Given the description of an element on the screen output the (x, y) to click on. 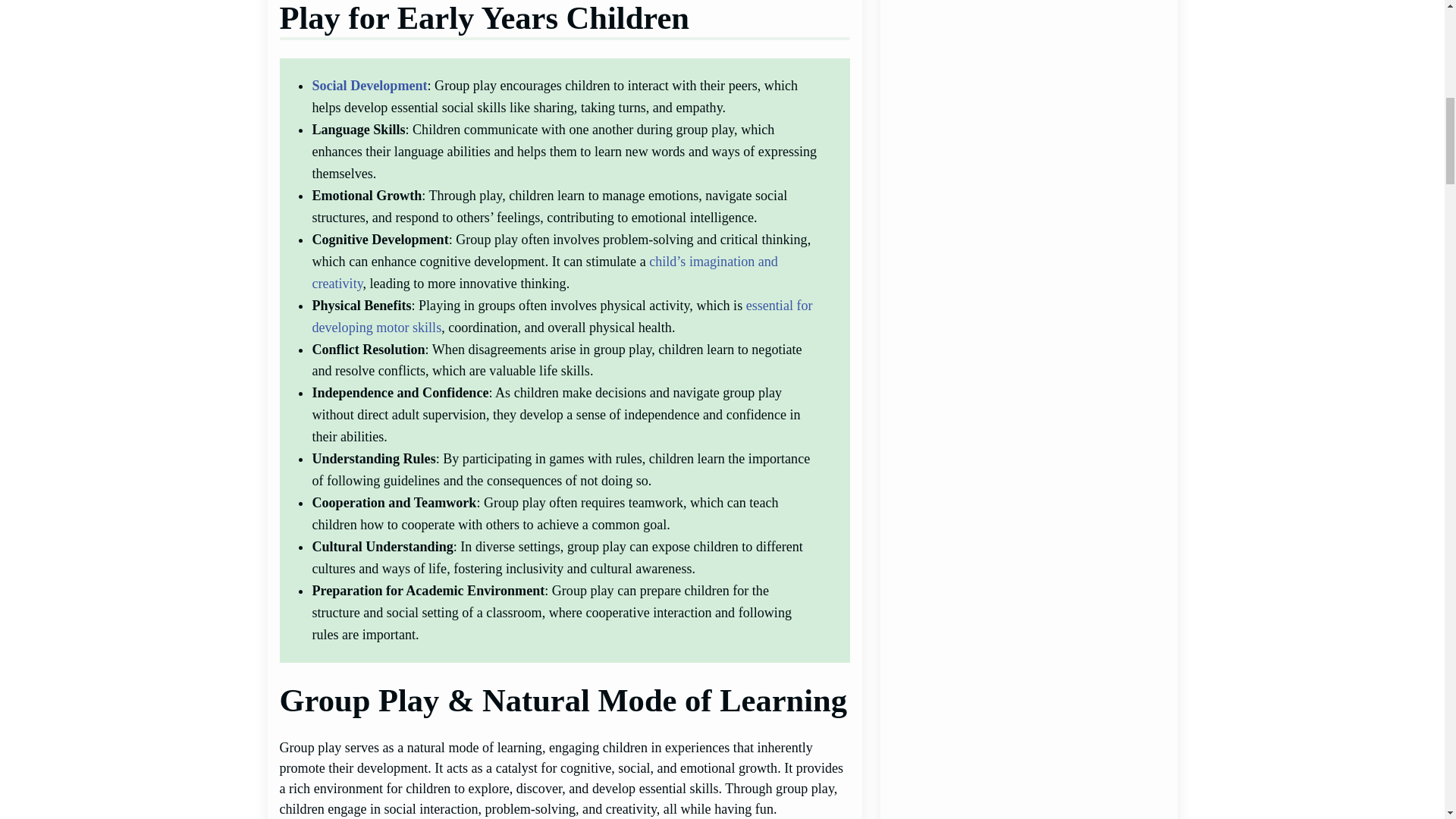
Best Role Play Toys for Kids in 2023 14 (1027, 743)
Social Development (368, 85)
Best Wooden Dolls Houses for Kids in 2023 13 (1027, 588)
essential for developing motor skills (561, 316)
